Given the description of an element on the screen output the (x, y) to click on. 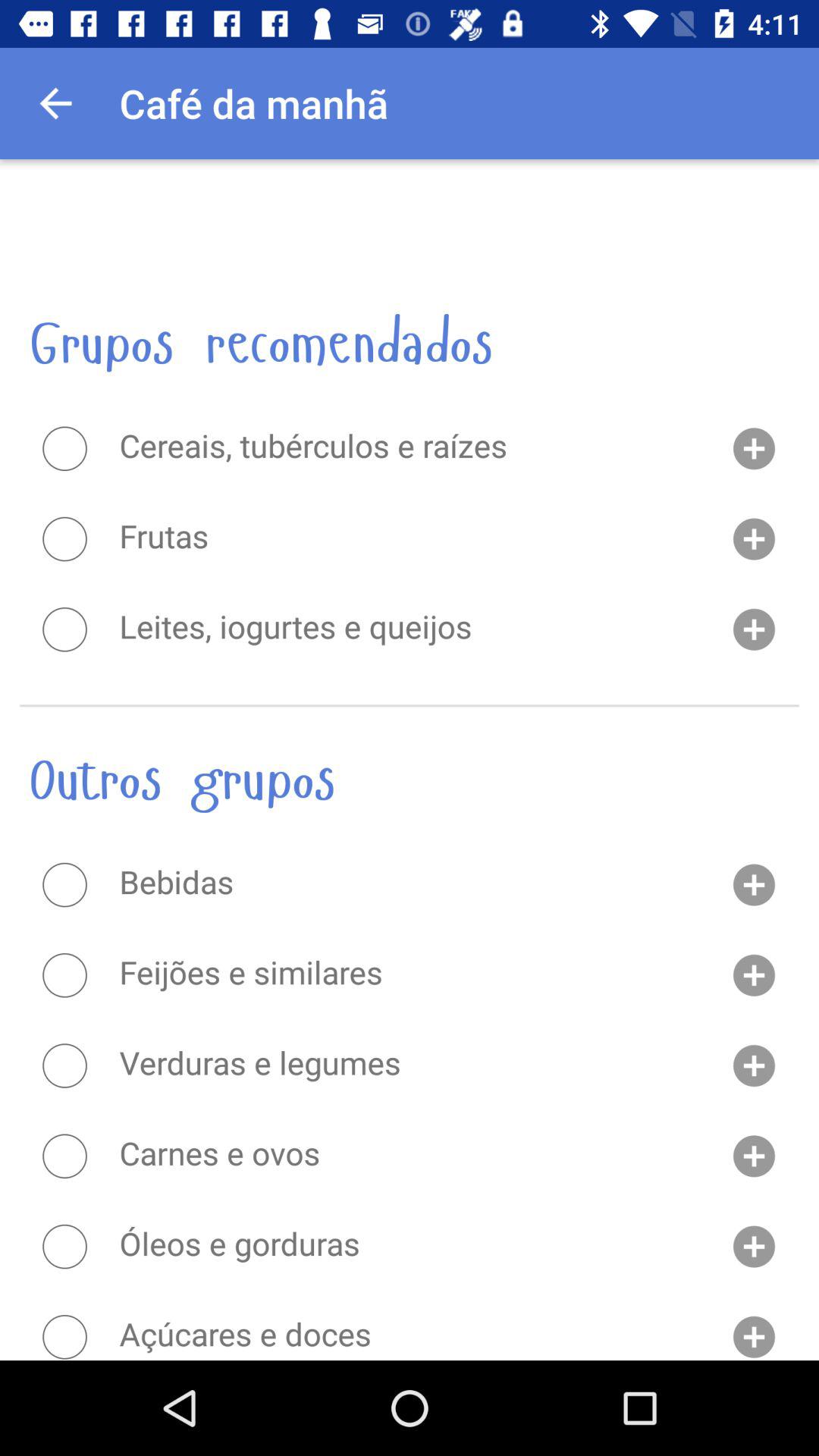
oil and fat (64, 1246)
